Given the description of an element on the screen output the (x, y) to click on. 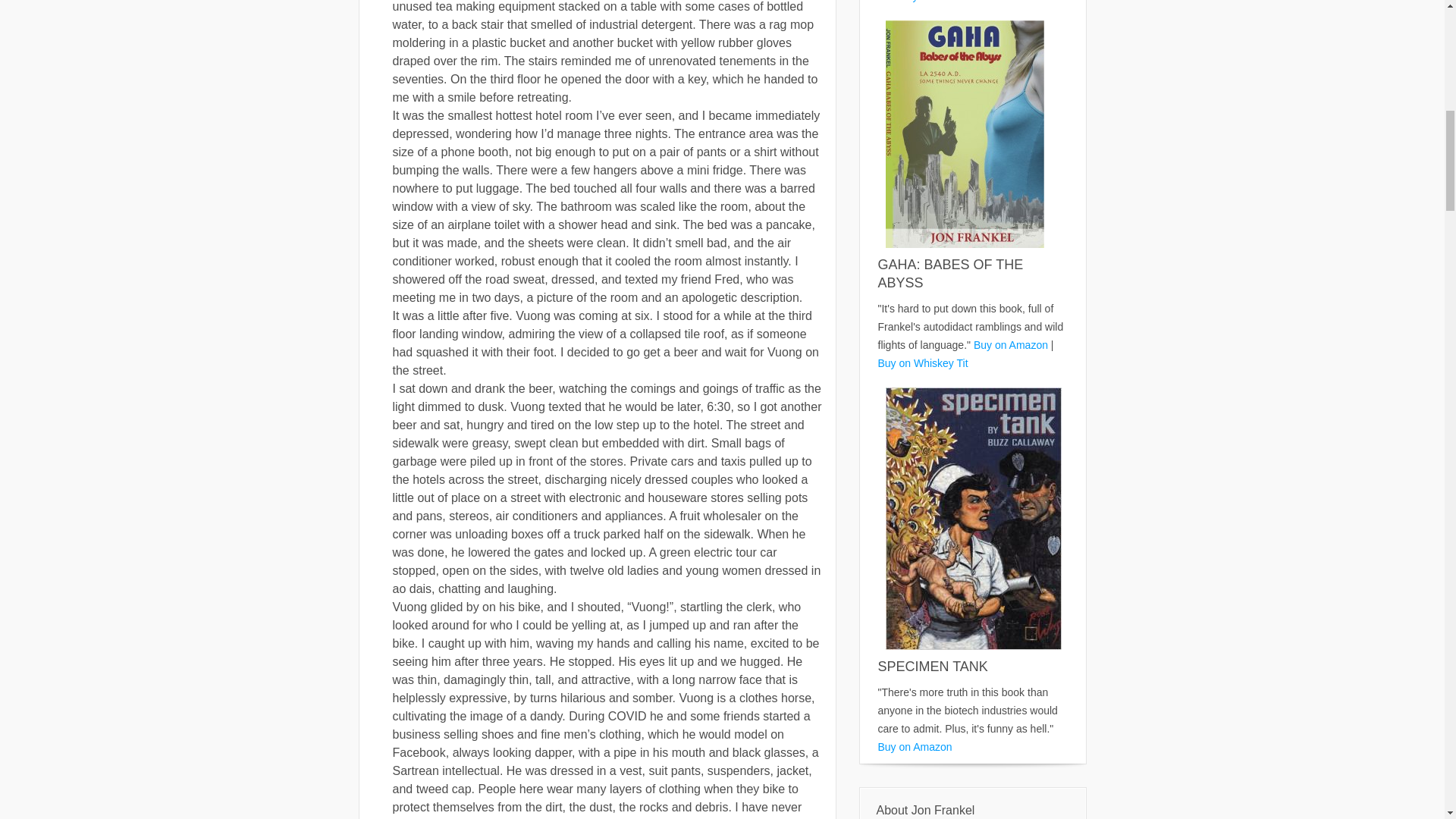
Buy on Whiskey Tit (956, 1)
Buy on Whiskey Tit (922, 363)
Buy on Amazon (1011, 345)
